Given the description of an element on the screen output the (x, y) to click on. 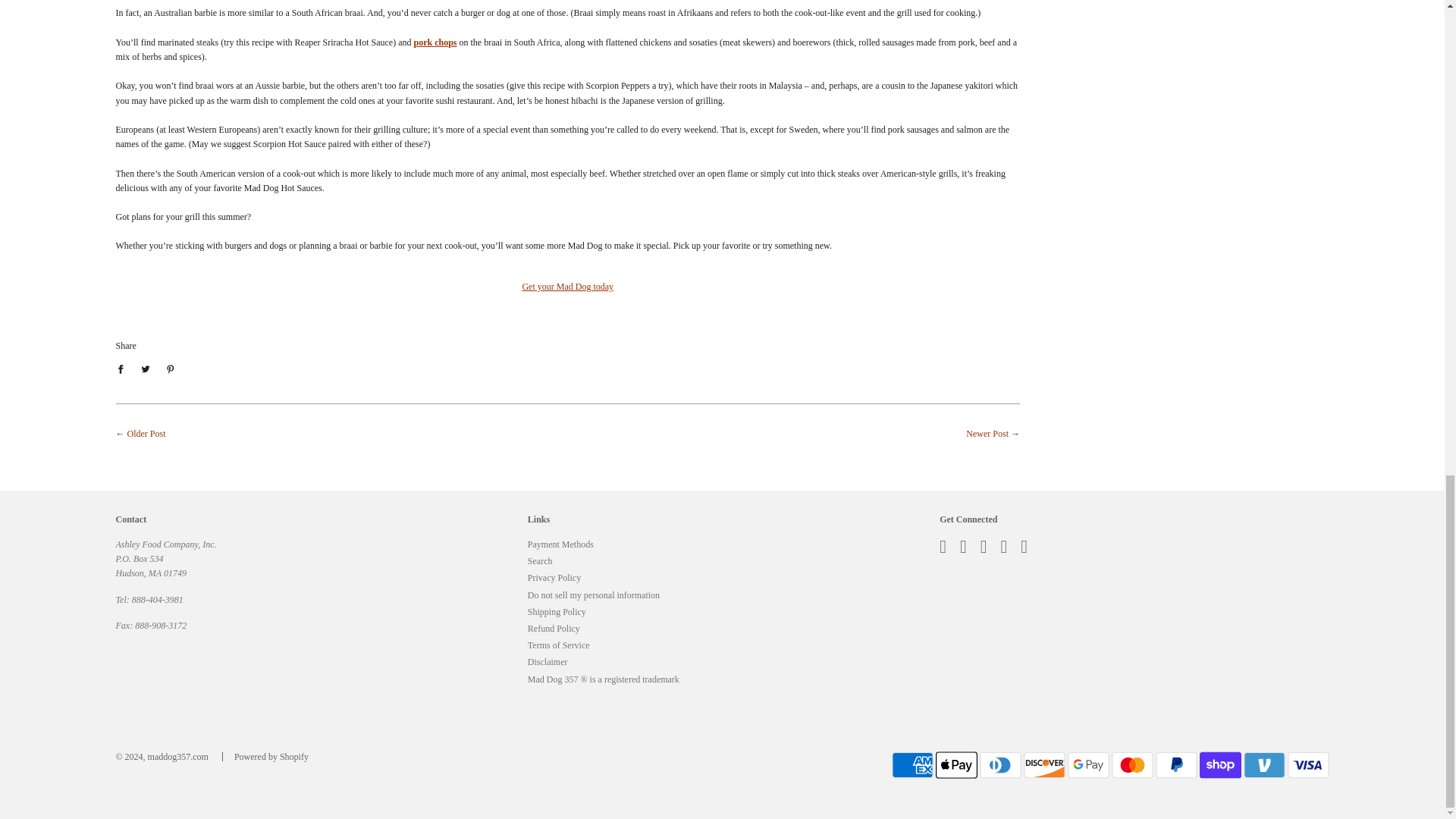
PayPal (1176, 765)
Google Pay (1088, 765)
Discover (1044, 765)
Spicy Tomato Pork Chops (435, 41)
Venmo (1264, 765)
Shop Pay (1220, 765)
Mad Dog 357 Hot Sauces (566, 286)
American Express (912, 765)
Mastercard (1132, 765)
Apple Pay (956, 765)
Diners Club (1000, 765)
Visa (1308, 765)
